Given the description of an element on the screen output the (x, y) to click on. 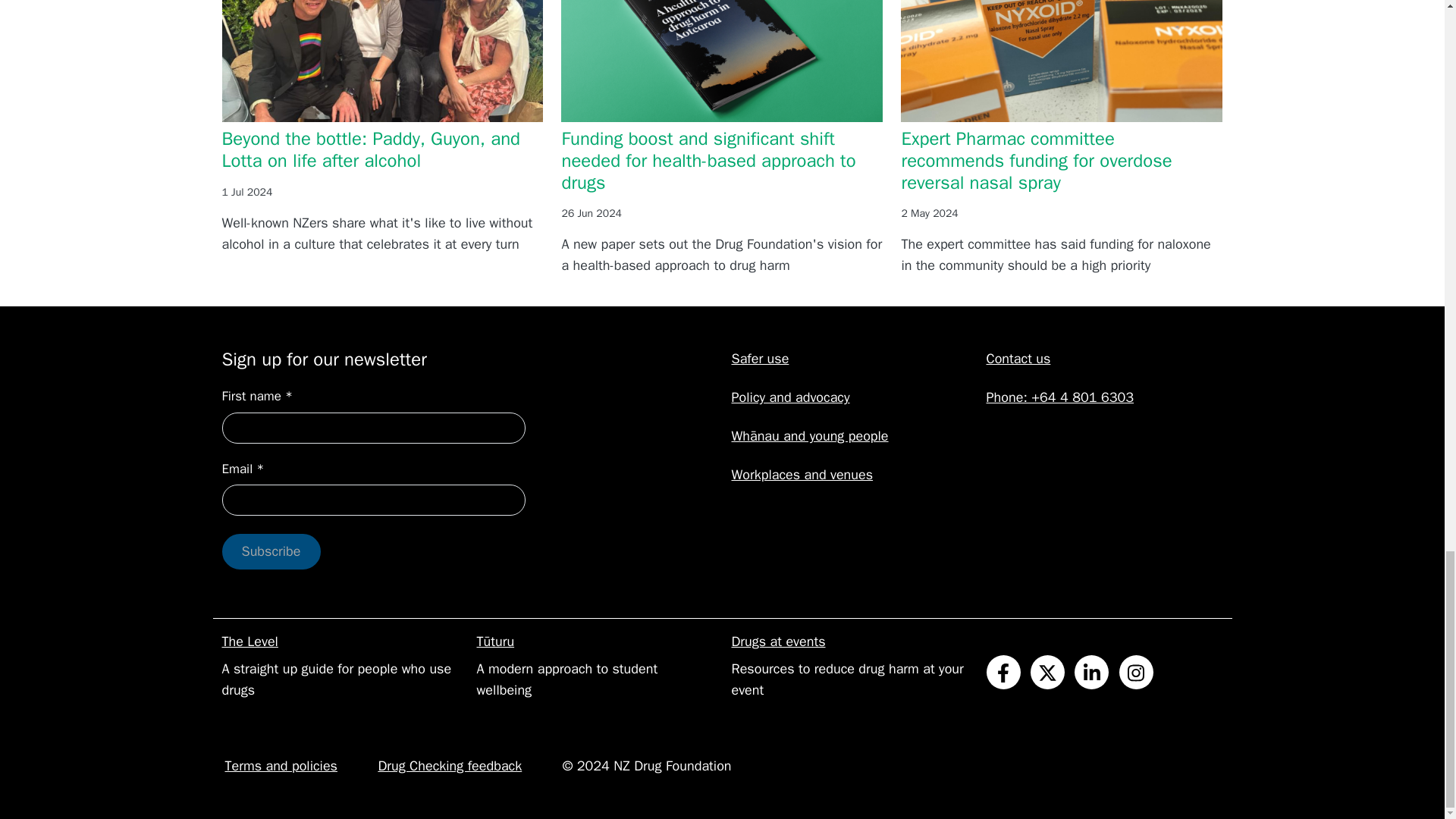
Facebook (1002, 672)
Instagram (1136, 672)
LinkedIn (1091, 672)
Subscribe (270, 551)
Twitter (1047, 672)
